Given the description of an element on the screen output the (x, y) to click on. 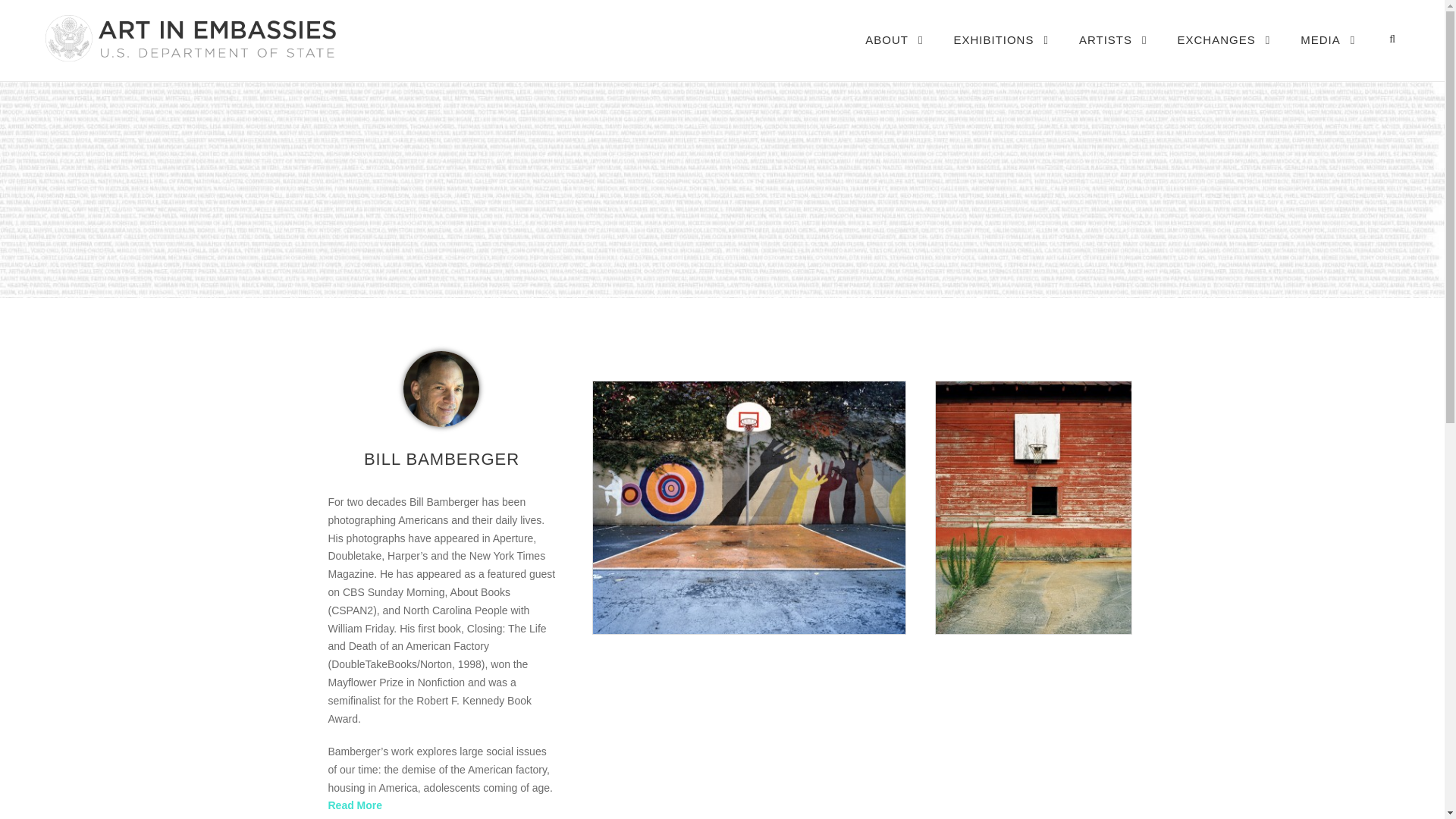
MEDIA (1327, 55)
EXCHANGES (1224, 55)
EXHIBITIONS (1000, 55)
ARTISTS (1112, 55)
Read More (354, 805)
ABOUT (893, 55)
9793 (441, 388)
aie logo3 (188, 38)
